Given the description of an element on the screen output the (x, y) to click on. 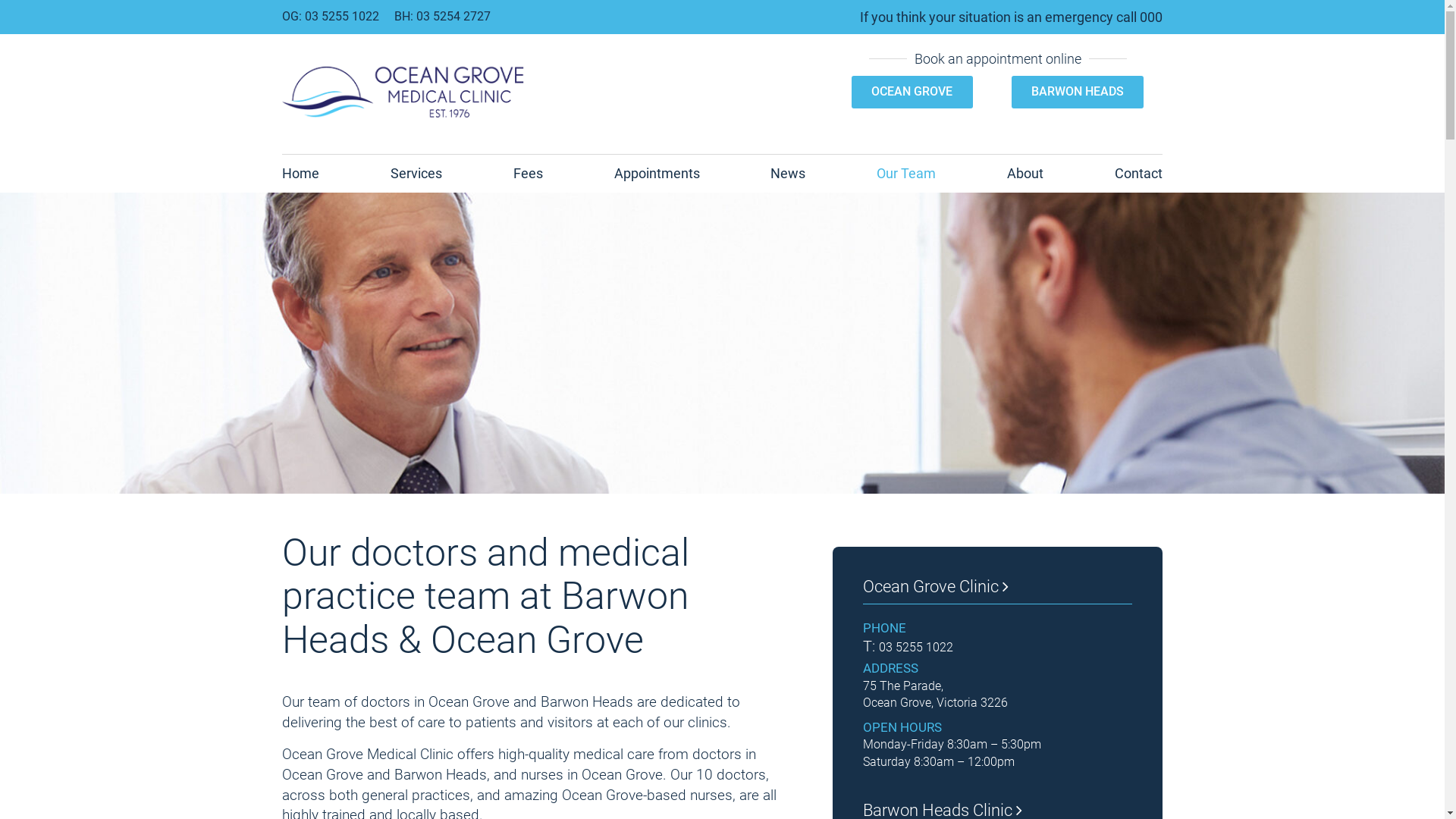
Services Element type: text (416, 173)
Appointments Element type: text (656, 173)
Ocean Grove Clinic Element type: text (997, 590)
OCEAN GROVE Element type: text (911, 91)
Home Element type: text (300, 173)
BARWON HEADS Element type: text (1077, 91)
News Element type: text (787, 173)
Our Team Element type: text (905, 173)
Contact Element type: text (1138, 173)
About Element type: text (1025, 173)
Fees Element type: text (527, 173)
